Given the description of an element on the screen output the (x, y) to click on. 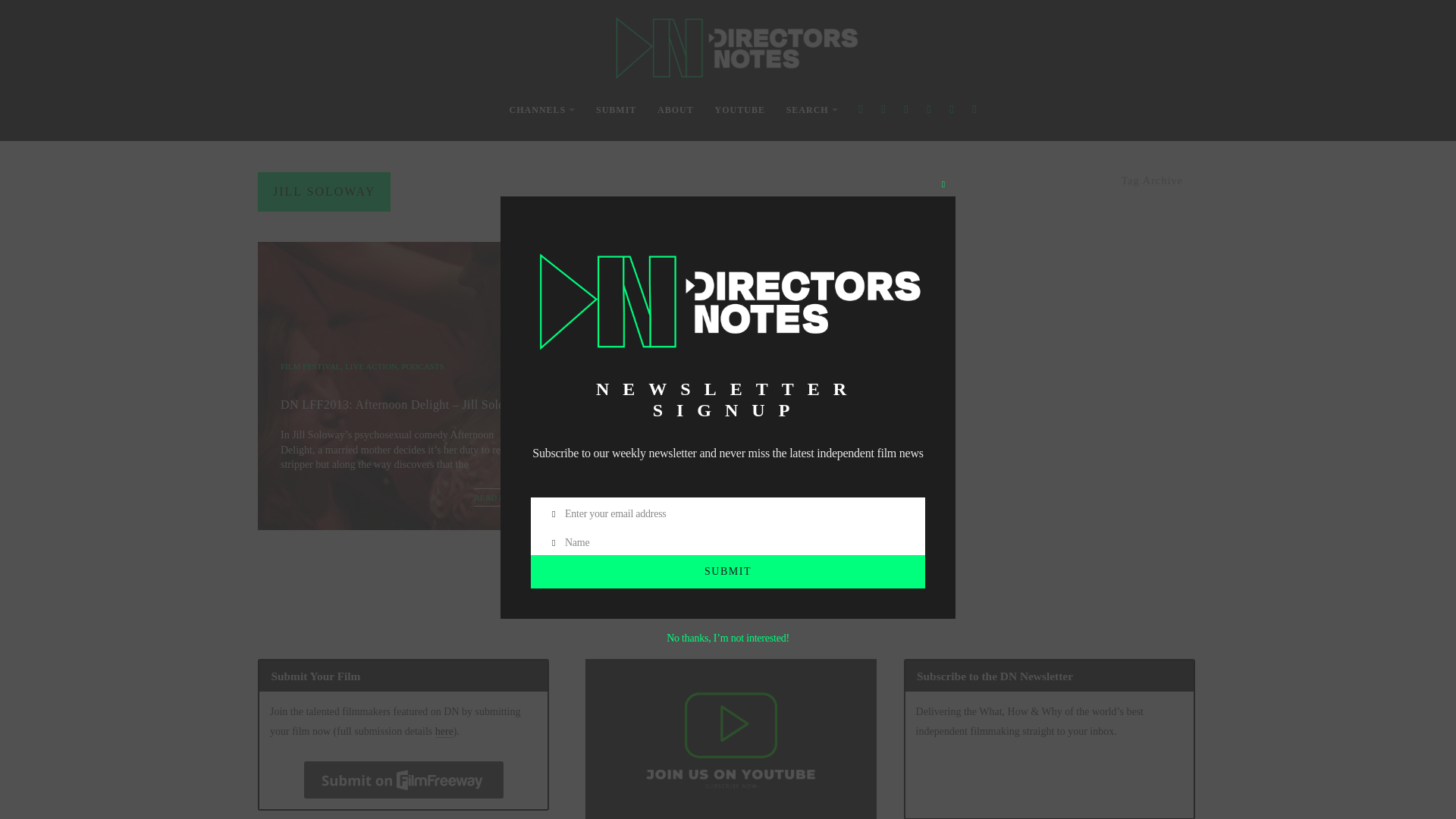
Close this module (943, 183)
ABOUT (676, 110)
Click to submit on FilmFreeway (403, 779)
LIVE ACTION (371, 366)
YOUTUBE (739, 110)
SUBMIT (727, 571)
Directors Notes on YouTube (730, 739)
LinkedIn (973, 110)
You Tube (928, 110)
SEARCH (812, 110)
Click to submit on FilmFreeway (403, 779)
CHANNELS (542, 110)
FILM FESTIVAL (310, 366)
here (443, 731)
Facebook (859, 110)
